Given the description of an element on the screen output the (x, y) to click on. 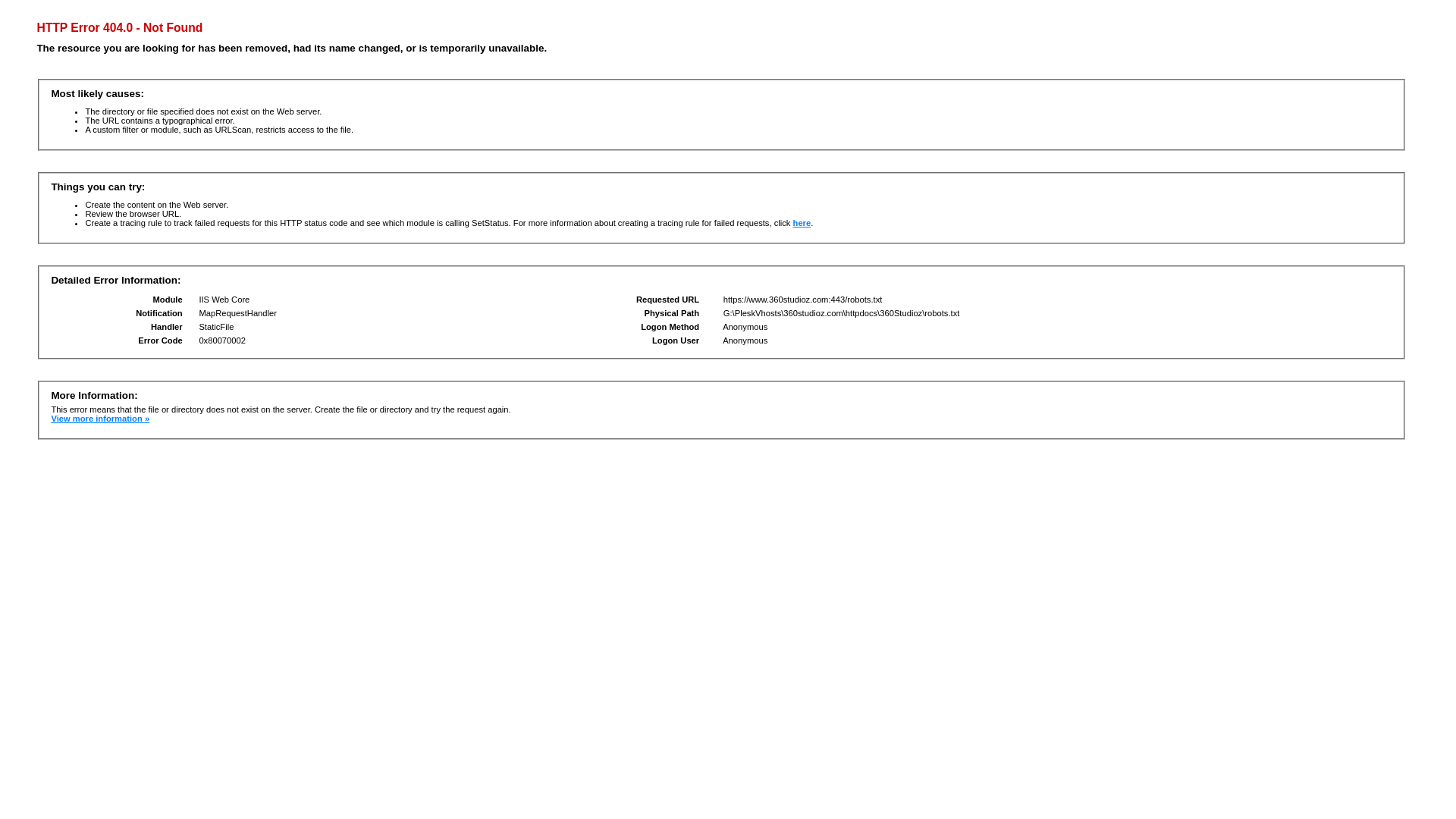
here Element type: text (802, 222)
